Given the description of an element on the screen output the (x, y) to click on. 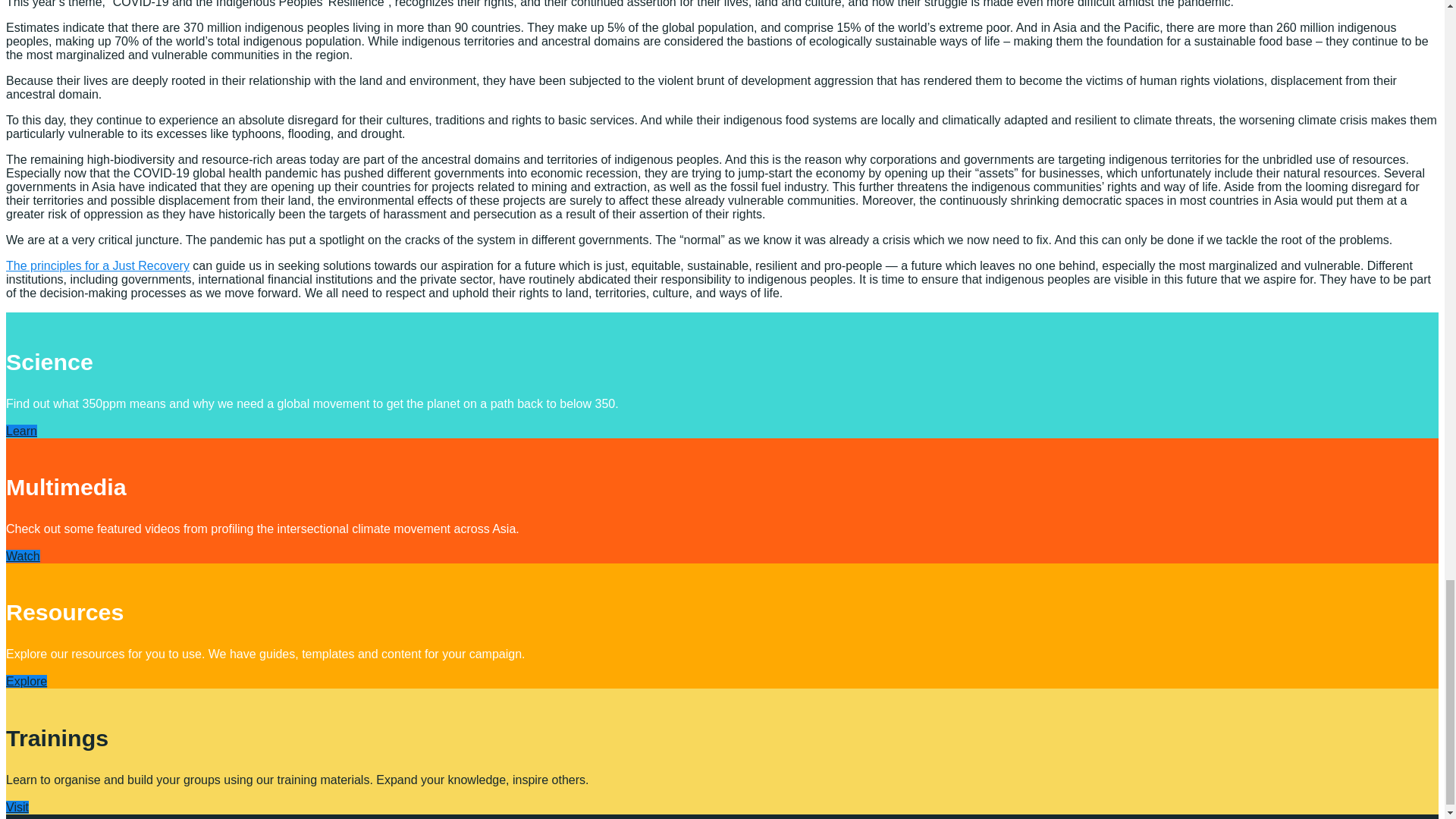
The principles for a Just Recovery (97, 265)
Explore (25, 680)
Visit (17, 807)
Watch (22, 555)
Learn (21, 431)
